Given the description of an element on the screen output the (x, y) to click on. 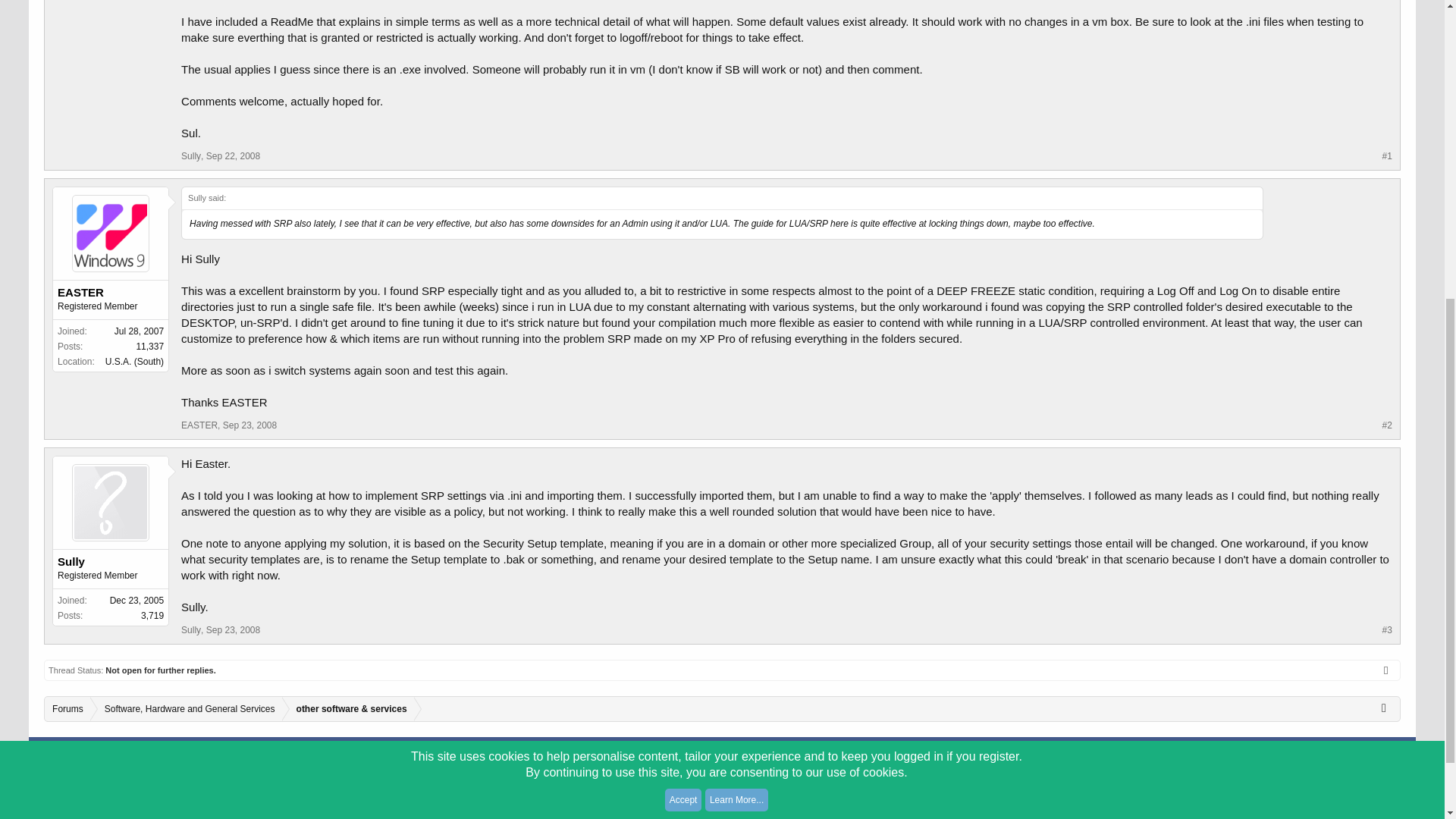
Software, Hardware and General Services (186, 708)
Sully (190, 155)
Sully (110, 561)
Sep 23, 2008 (233, 629)
Open quick navigation (1387, 707)
3,719 (152, 615)
Sully (190, 629)
11,337 (149, 346)
Permalink (233, 155)
Permalink (233, 629)
